Given the description of an element on the screen output the (x, y) to click on. 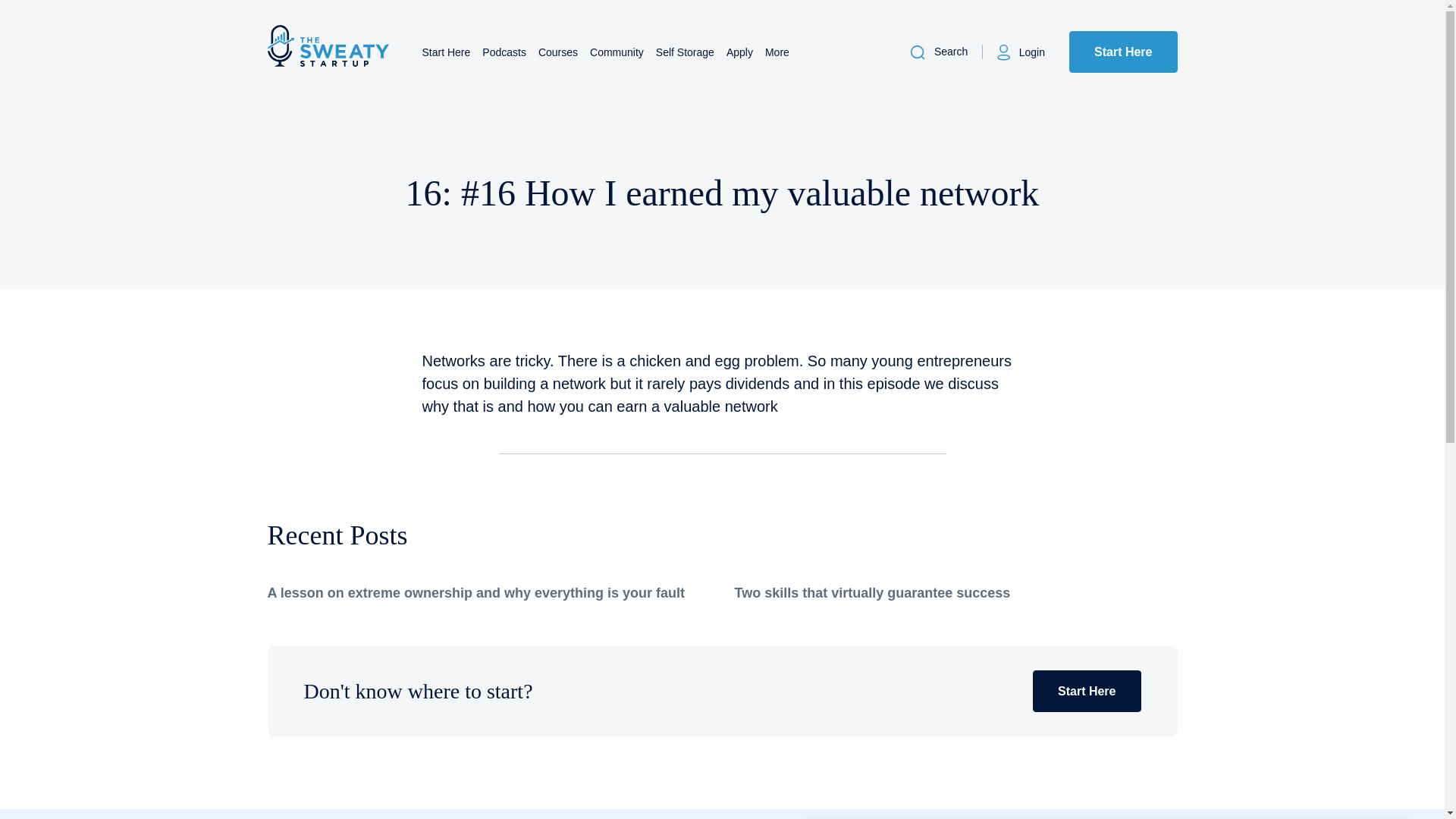
Community (616, 51)
Two skills that virtually guarantee success (871, 592)
Self Storage (685, 51)
Start Here (446, 51)
Podcasts (503, 51)
Courses (558, 51)
Start Here (1086, 690)
Login (1019, 51)
Start Here (1122, 51)
